Given the description of an element on the screen output the (x, y) to click on. 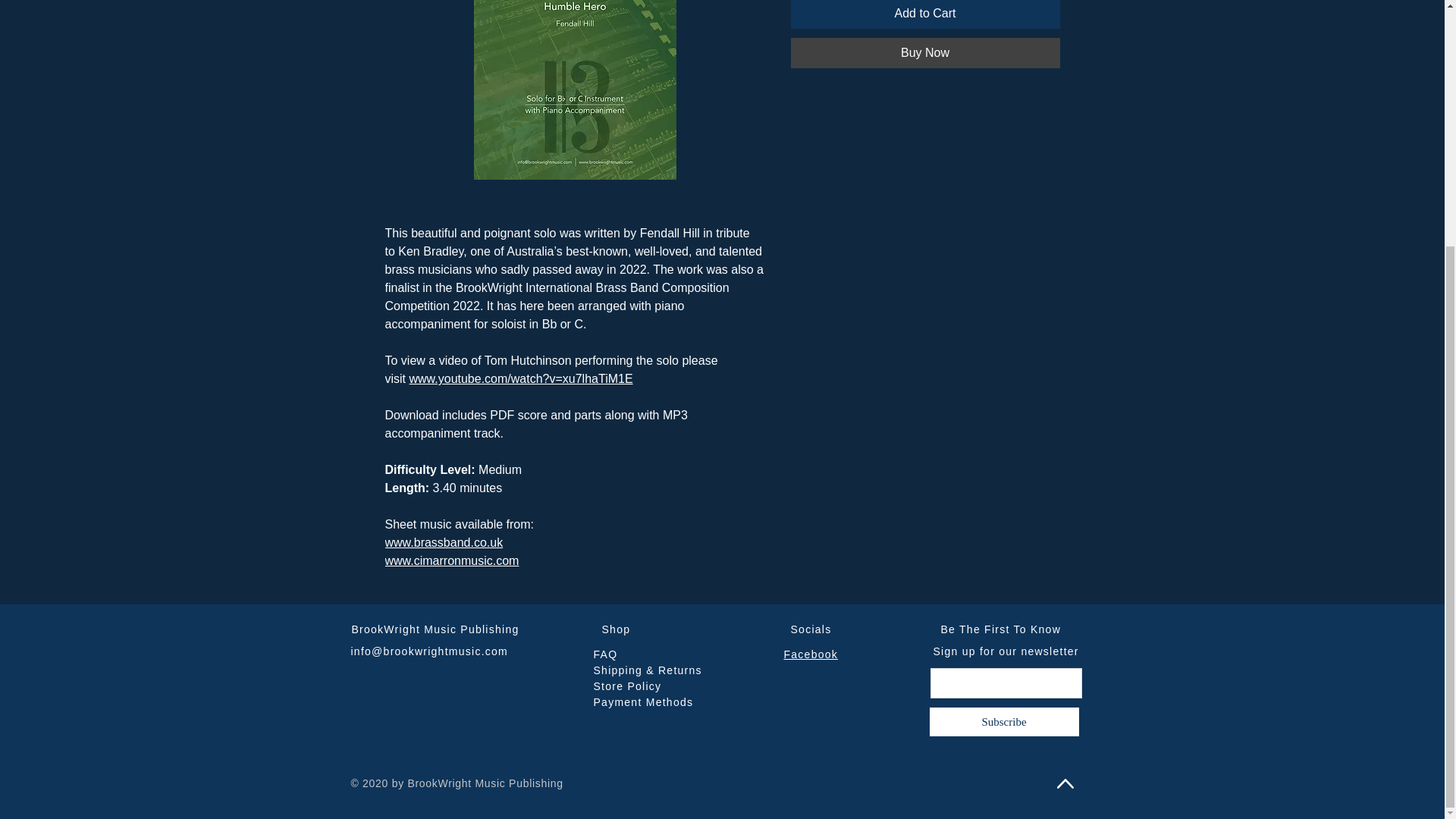
www.cimarronmusic.com (452, 560)
Facebook (811, 654)
Store Policy (626, 686)
Add to Cart (924, 14)
FAQ (604, 654)
www.brassband.co.uk (444, 542)
Subscribe (1003, 721)
Buy Now (924, 52)
Payment Methods (642, 702)
